Given the description of an element on the screen output the (x, y) to click on. 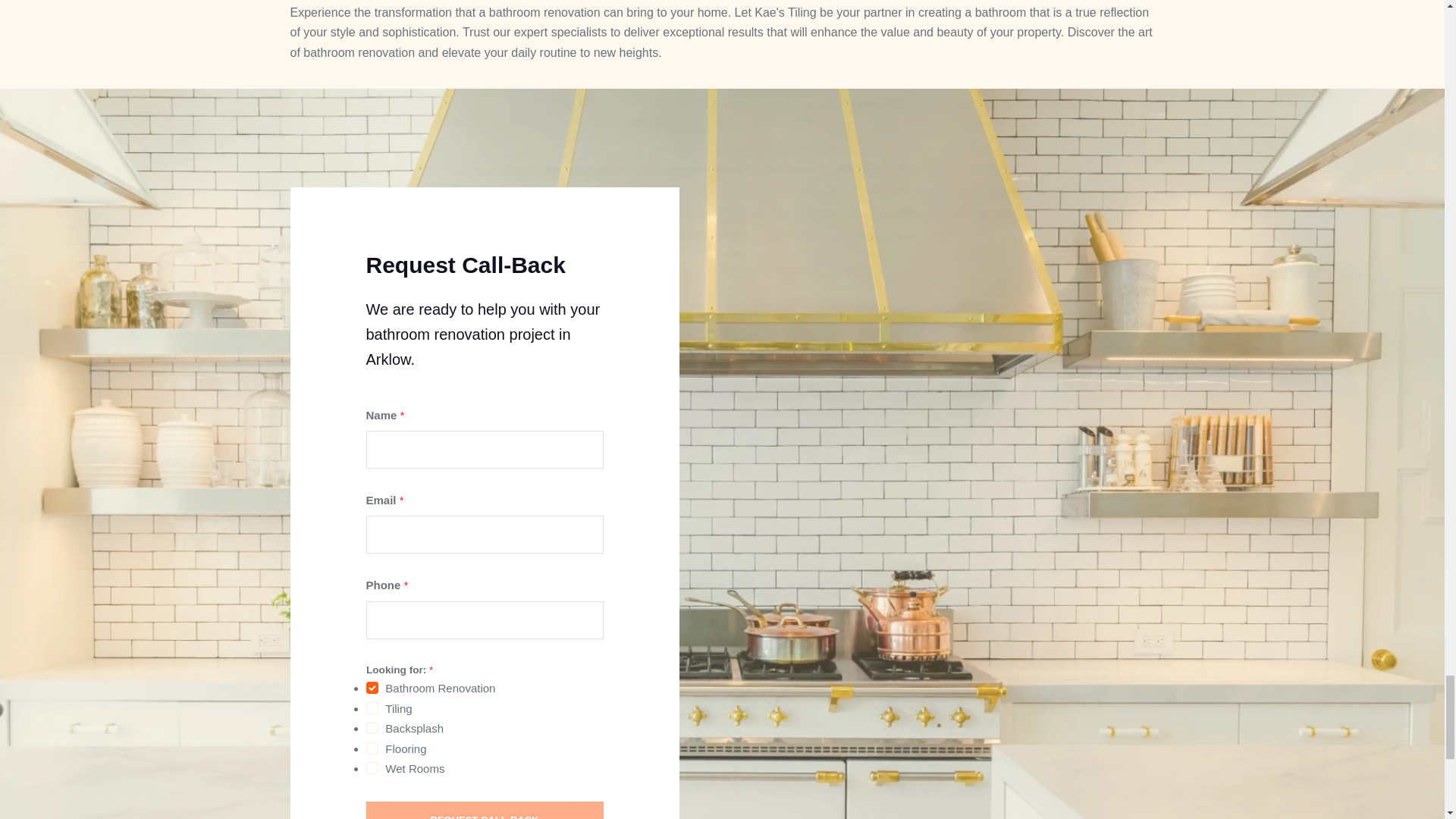
REQUEST CALL-BACK (483, 810)
